Given the description of an element on the screen output the (x, y) to click on. 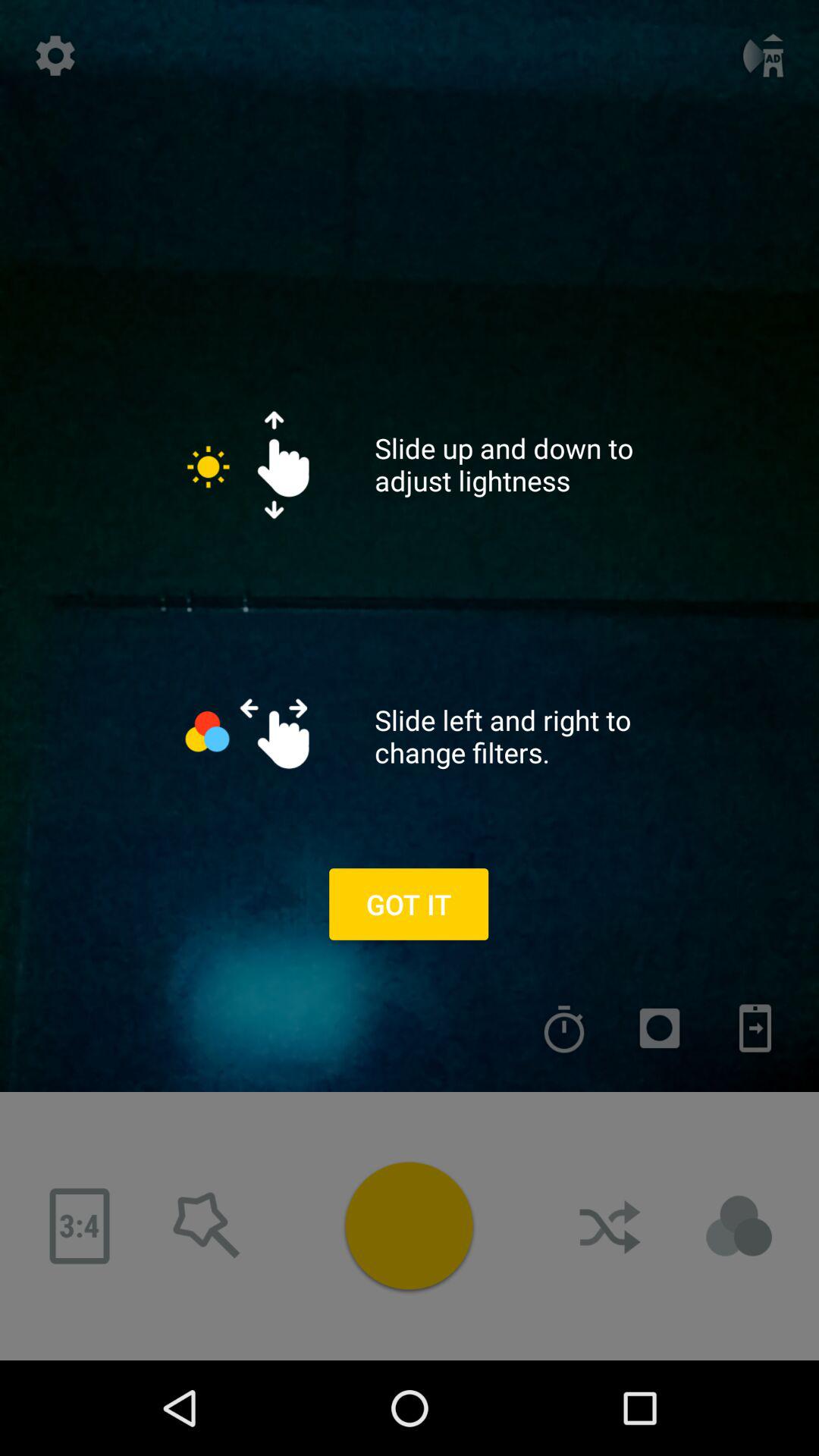
menu selection (659, 1028)
